Given the description of an element on the screen output the (x, y) to click on. 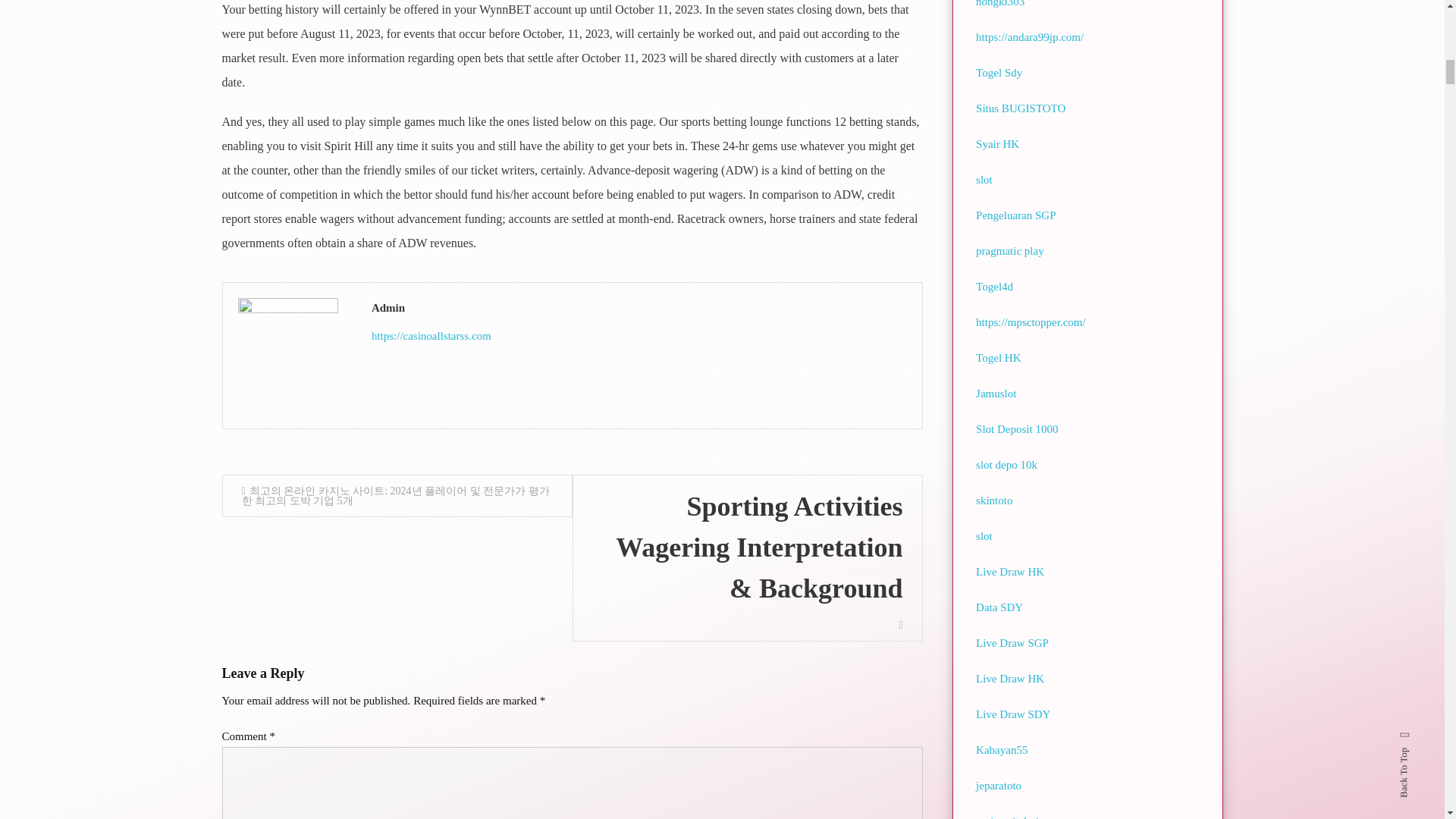
Admin (639, 308)
